Given the description of an element on the screen output the (x, y) to click on. 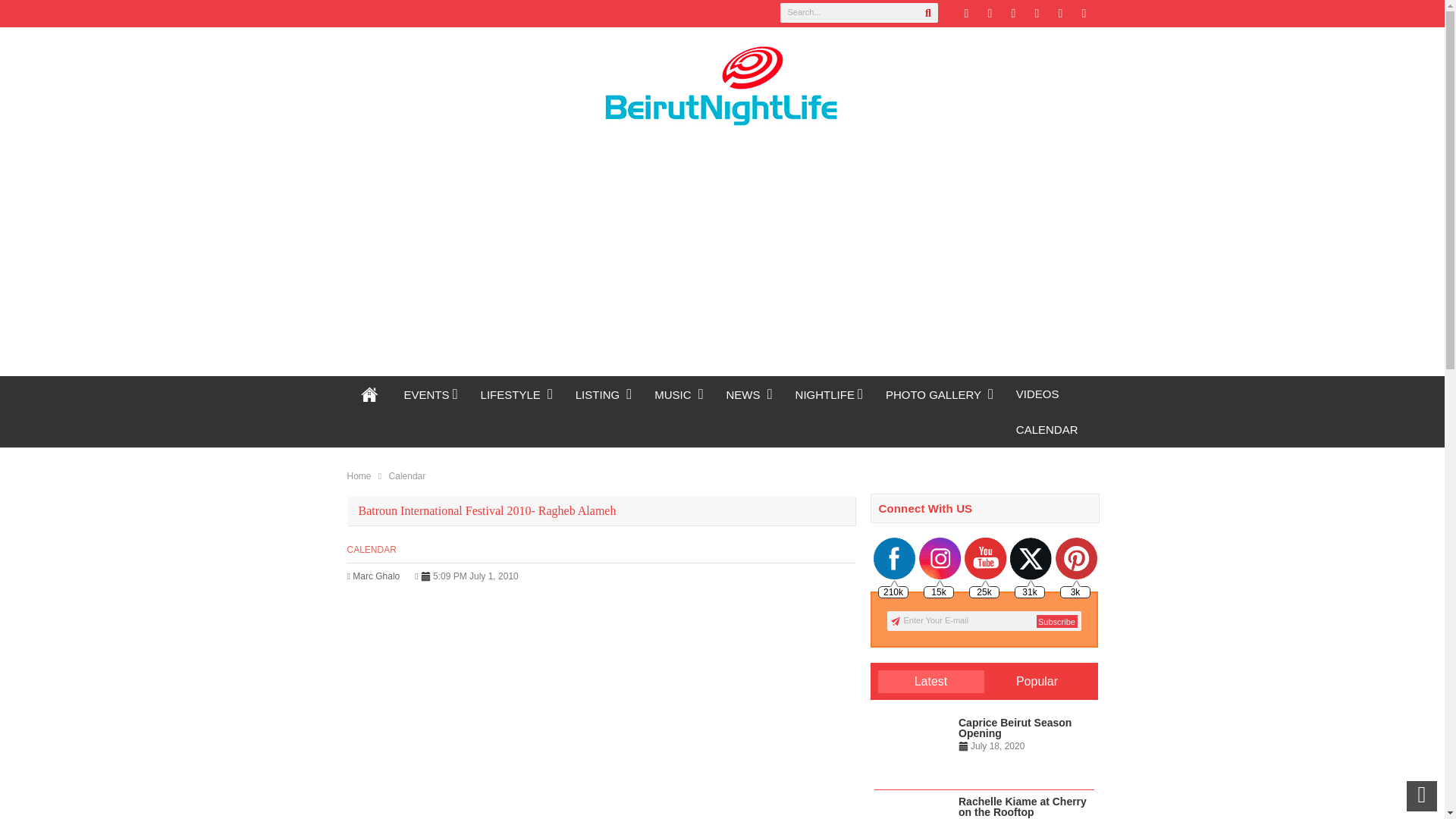
LIFESTYLE (516, 394)
MUSIC (678, 394)
Subscribe (1056, 621)
Search... (857, 12)
RSS (1036, 13)
Facebook (988, 13)
Twitter (966, 13)
BEIRUTNIGHTLIFE :: BEIRUT THE ONLY WAY IT SHOULD BE (370, 393)
Enter Your E-mail (983, 620)
Search... (857, 12)
Instagram (1060, 13)
Youtube (1083, 13)
LISTING (603, 394)
